Given the description of an element on the screen output the (x, y) to click on. 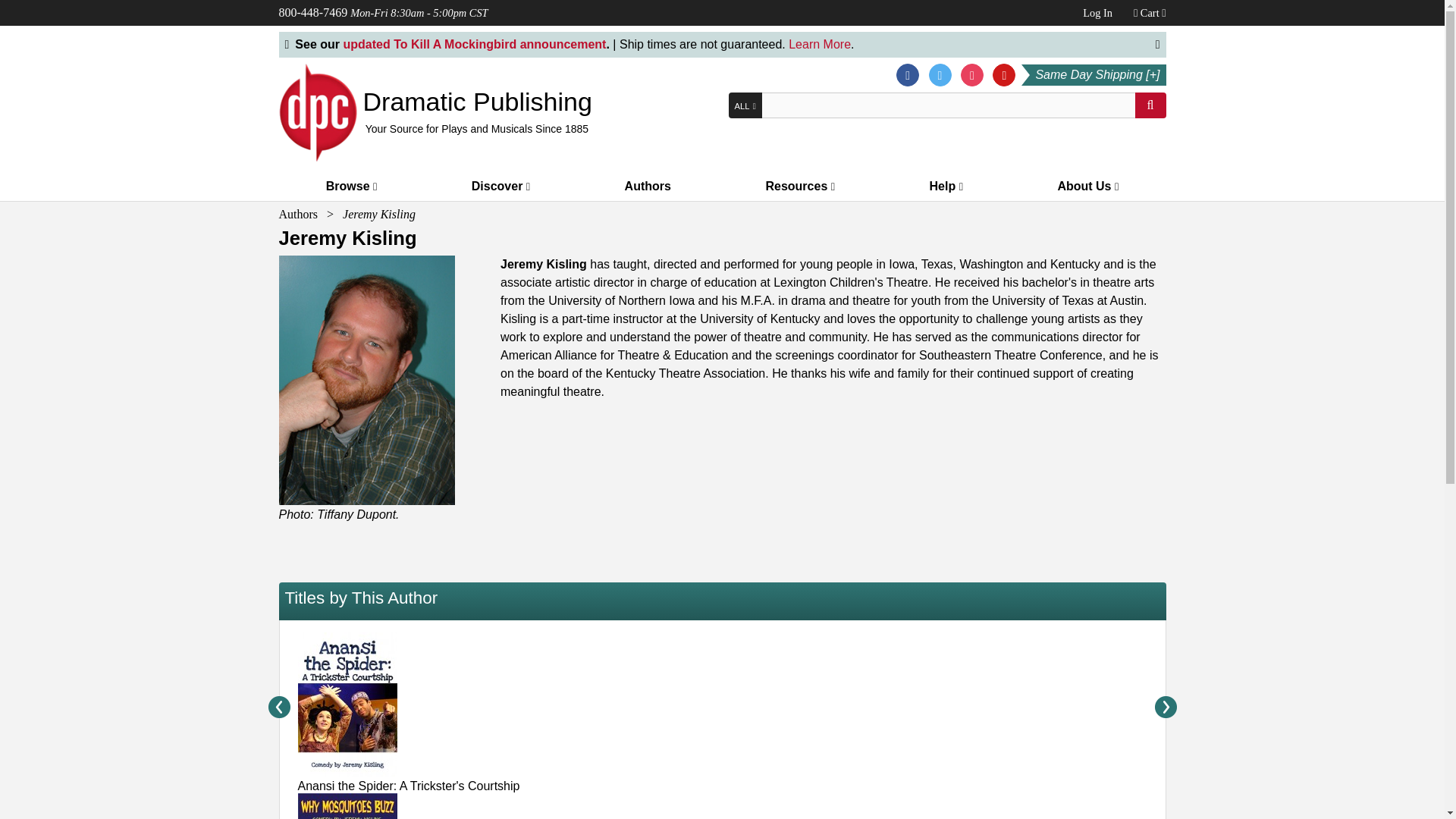
Browse (351, 185)
updated To Kill A Mockingbird announcement (473, 43)
Learn More (819, 43)
800-448-7469 (313, 11)
Resources (799, 185)
Log In (1097, 12)
Cart (1150, 12)
Authors (647, 185)
Discover (500, 185)
